Given the description of an element on the screen output the (x, y) to click on. 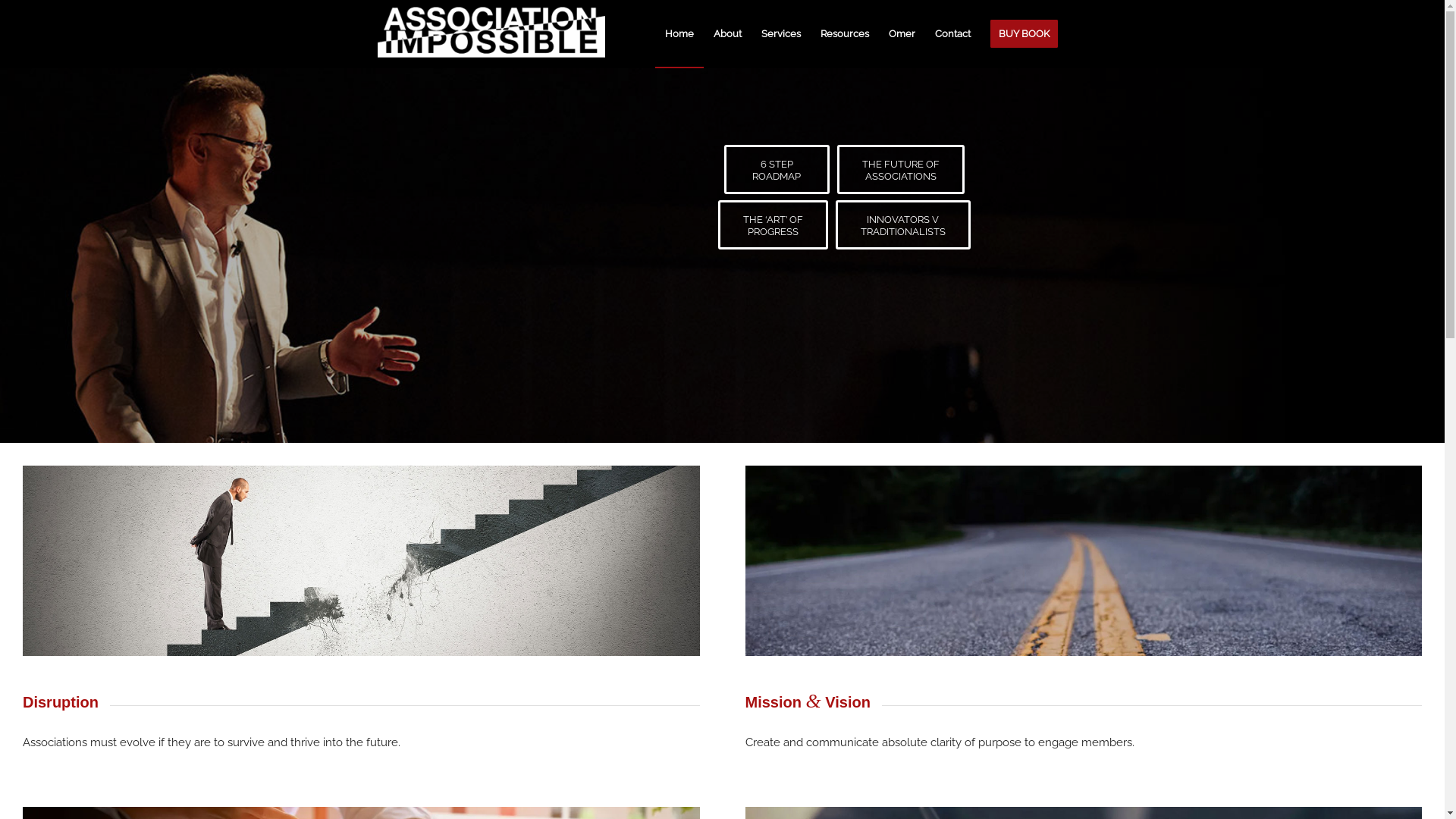
About Element type: text (727, 33)
Mission & Vision Element type: text (806, 701)
INNOVATORS V
TRADITIONALISTS Element type: text (902, 224)
BUY BOOK Element type: text (1022, 33)
Disruption Element type: text (60, 701)
Services Element type: text (779, 33)
6 STEP
ROADMAP Element type: text (776, 169)
Mission-&-Vision Element type: hover (1082, 560)
Resources Element type: text (843, 33)
Contact Element type: text (952, 33)
Association-Impossible-Disruption Element type: hover (360, 560)
Omer Element type: text (901, 33)
Home Element type: text (679, 33)
THE FUTURE OF
ASSOCIATIONS Element type: text (900, 169)
